Given the description of an element on the screen output the (x, y) to click on. 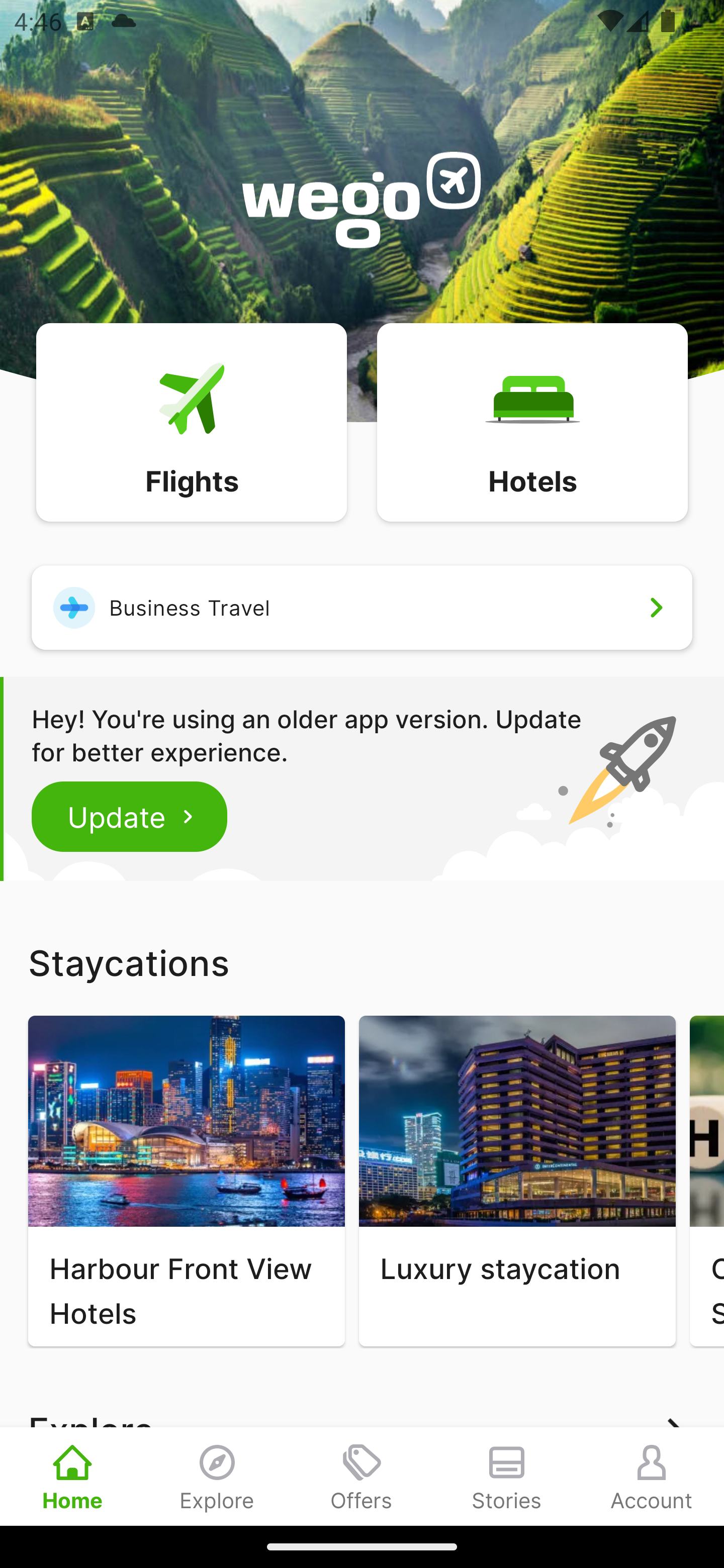
Flights (191, 420)
Hotels (532, 420)
Business Travel (361, 607)
Update (129, 815)
Staycations (362, 962)
Harbour Front View Hotels (186, 1181)
Luxury staycation (517, 1181)
Explore (216, 1475)
Offers (361, 1475)
Stories (506, 1475)
Account (651, 1475)
